Given the description of an element on the screen output the (x, y) to click on. 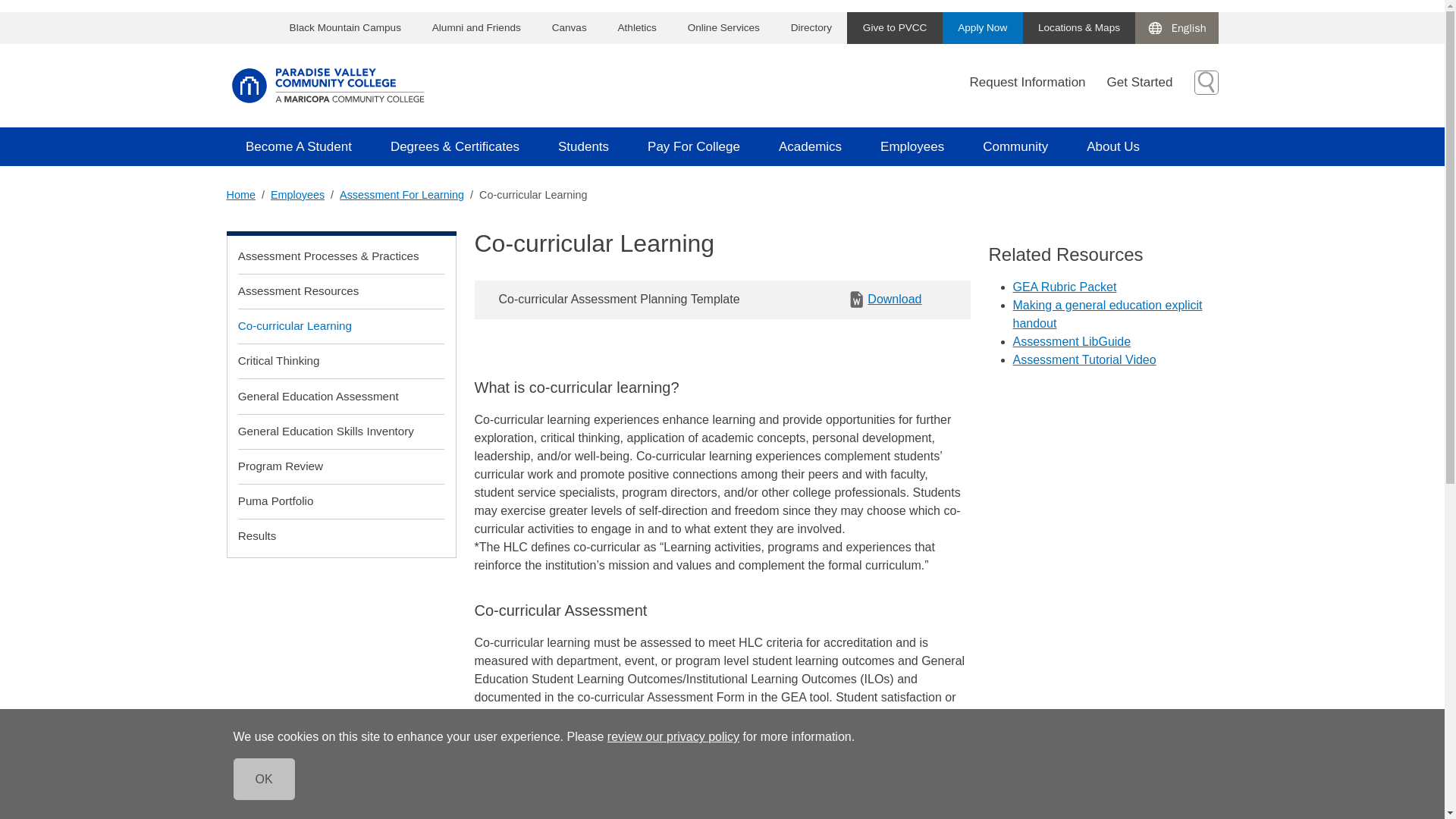
Alumni and Friends (475, 28)
English (1177, 27)
Students (582, 146)
Directory (810, 28)
Paradise Valley Community College Home (327, 85)
Athletics (636, 28)
review our privacy policy (673, 736)
Black Mountain Campus (344, 28)
Start, Continue, or Finish at PVCC (982, 28)
Become A Student (298, 146)
Get Started (1149, 82)
Online Services (722, 28)
Pay For College (694, 146)
Canvas (568, 28)
